Given the description of an element on the screen output the (x, y) to click on. 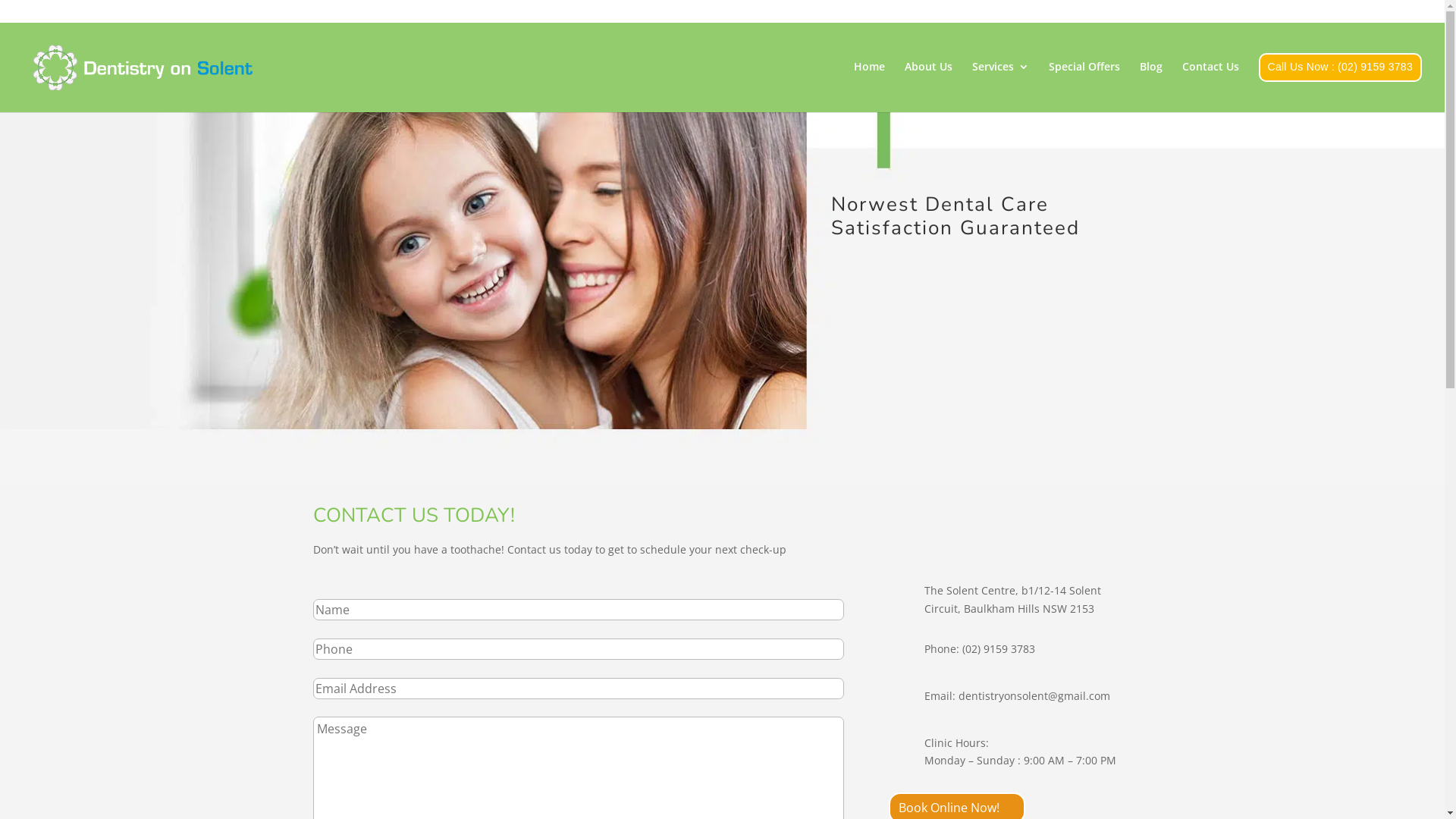
Services Element type: text (1000, 81)
About Us Element type: text (927, 81)
Blog Element type: text (1150, 81)
Home Element type: text (868, 81)
Special Offers Element type: text (1083, 81)
Contact Us Element type: text (1209, 81)
(02) 9159 3783 Element type: text (998, 648)
Call Us Now : (02) 9159 3783 Element type: text (1340, 82)
